Given the description of an element on the screen output the (x, y) to click on. 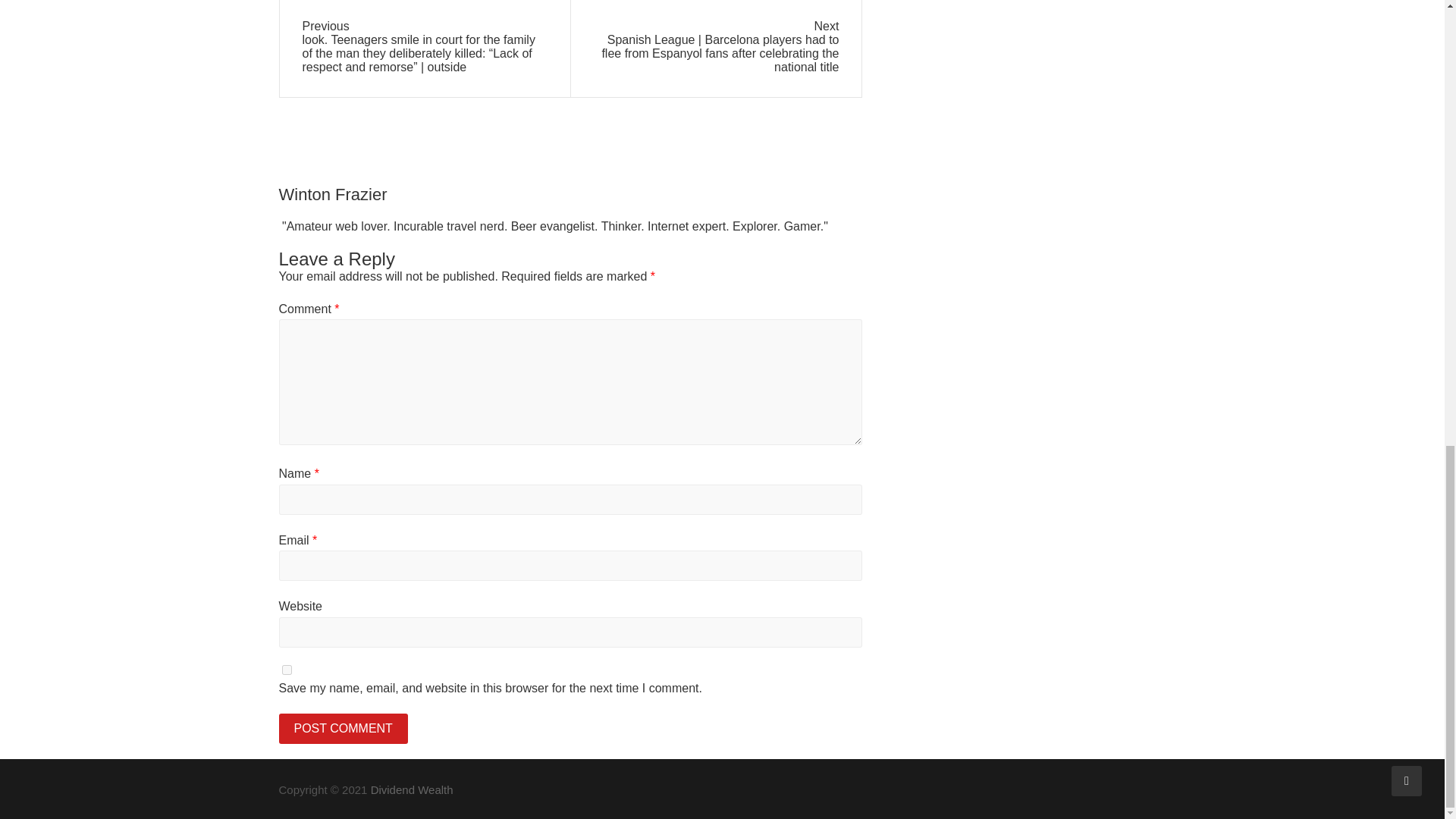
Post Comment (343, 728)
Post Comment (343, 728)
yes (287, 669)
Dividend Wealth (411, 789)
